Given the description of an element on the screen output the (x, y) to click on. 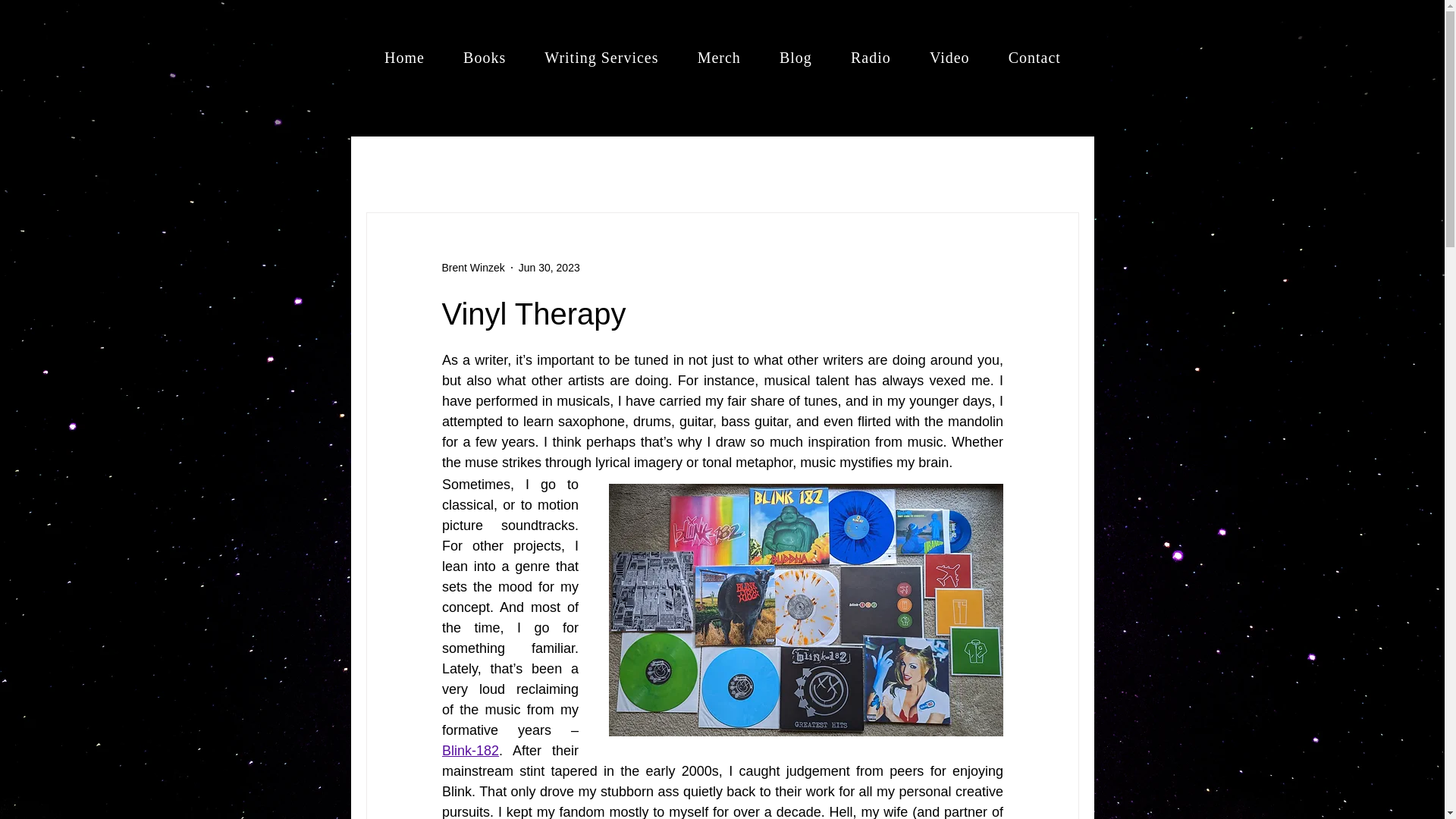
Radio (870, 57)
Merch (719, 57)
Jun 30, 2023 (548, 266)
Brent Winzek (472, 267)
Brent Winzek (472, 267)
Home (404, 57)
Writing Services (601, 57)
Blog (795, 57)
Books (484, 57)
Video (948, 57)
